Given the description of an element on the screen output the (x, y) to click on. 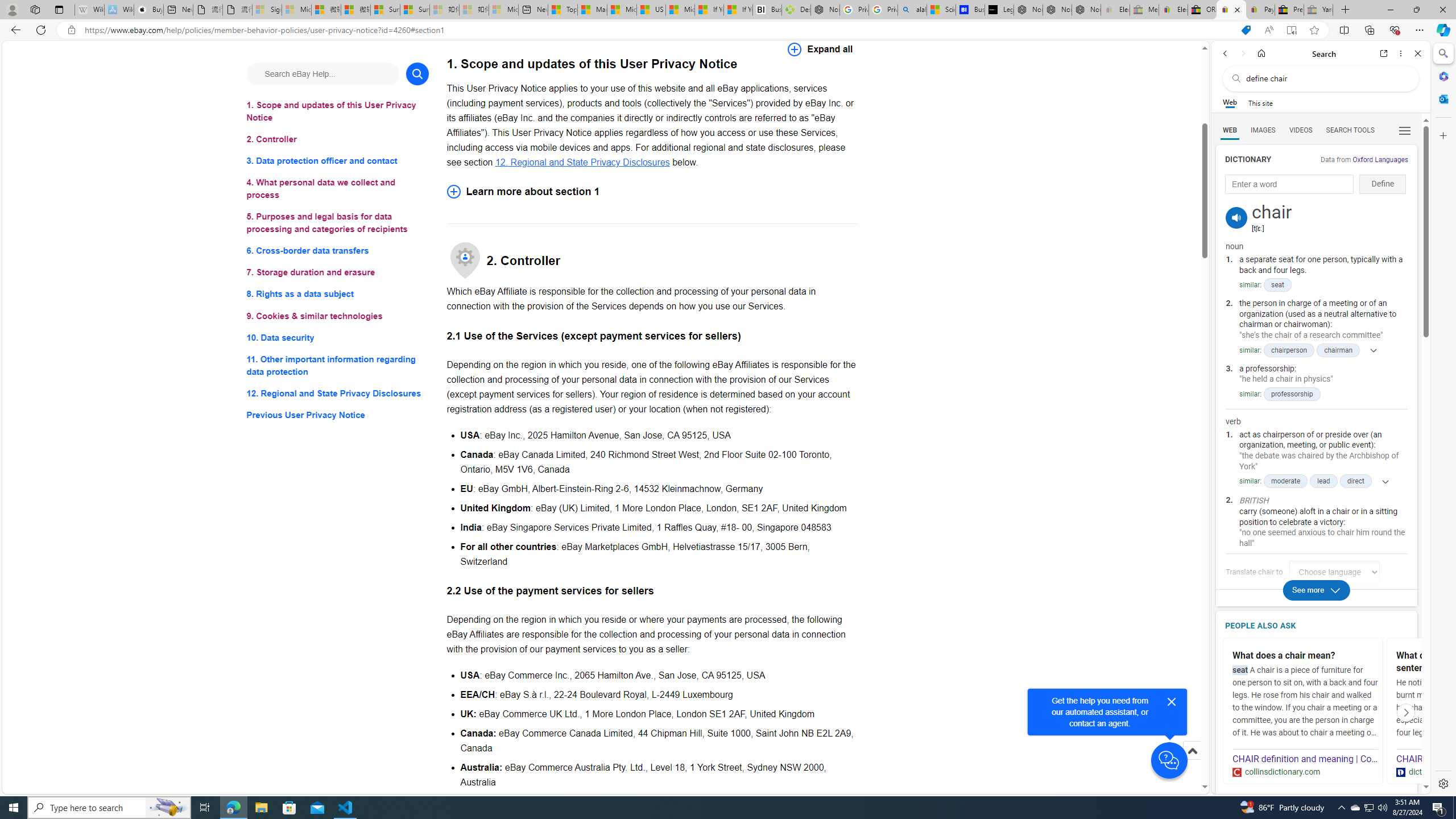
Search eBay Help... (322, 73)
3. Data protection officer and contact (337, 160)
direct (1355, 481)
9. Cookies & similar technologies (337, 315)
